Given the description of an element on the screen output the (x, y) to click on. 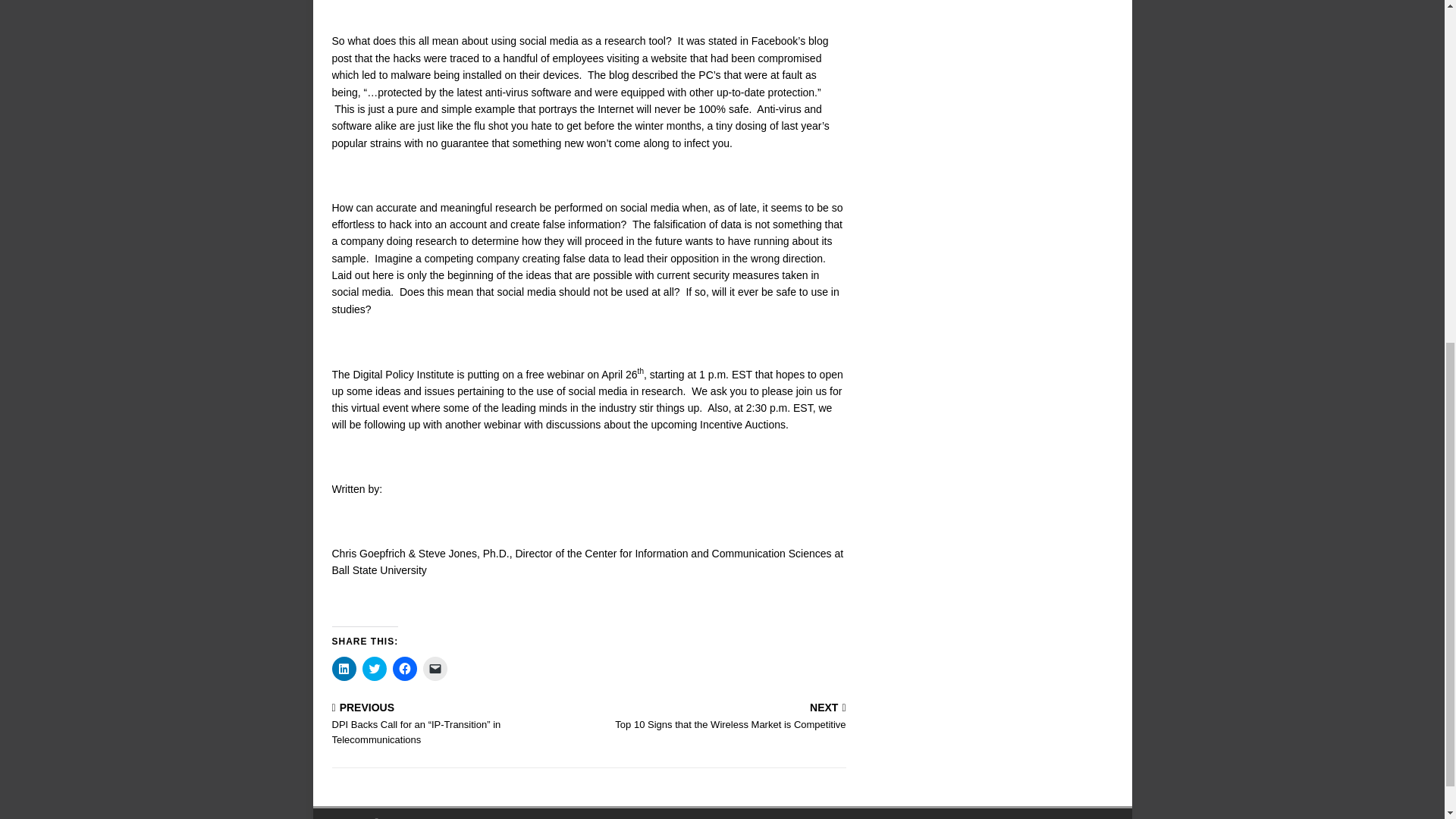
Click to share on LinkedIn (343, 668)
Click to share on Facebook (720, 717)
Click to share on Twitter (404, 668)
Click to email a link to a friend (374, 668)
